Given the description of an element on the screen output the (x, y) to click on. 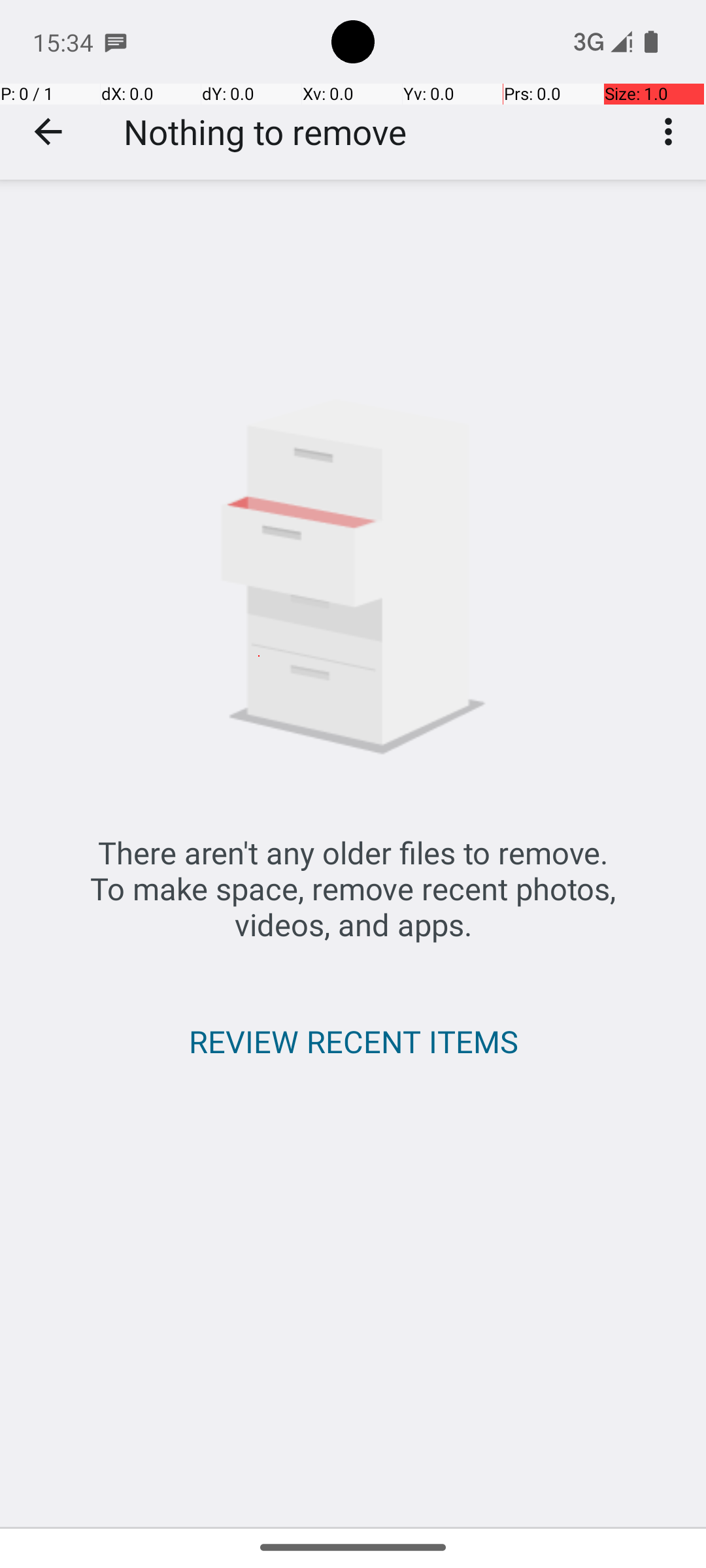
Nothing to remove Element type: android.widget.TextView (265, 131)
There aren't any older files to remove. To make space, remove recent photos, videos, and apps. Element type: android.widget.TextView (353, 887)
REVIEW RECENT ITEMS Element type: android.widget.TextView (352, 1040)
